Given the description of an element on the screen output the (x, y) to click on. 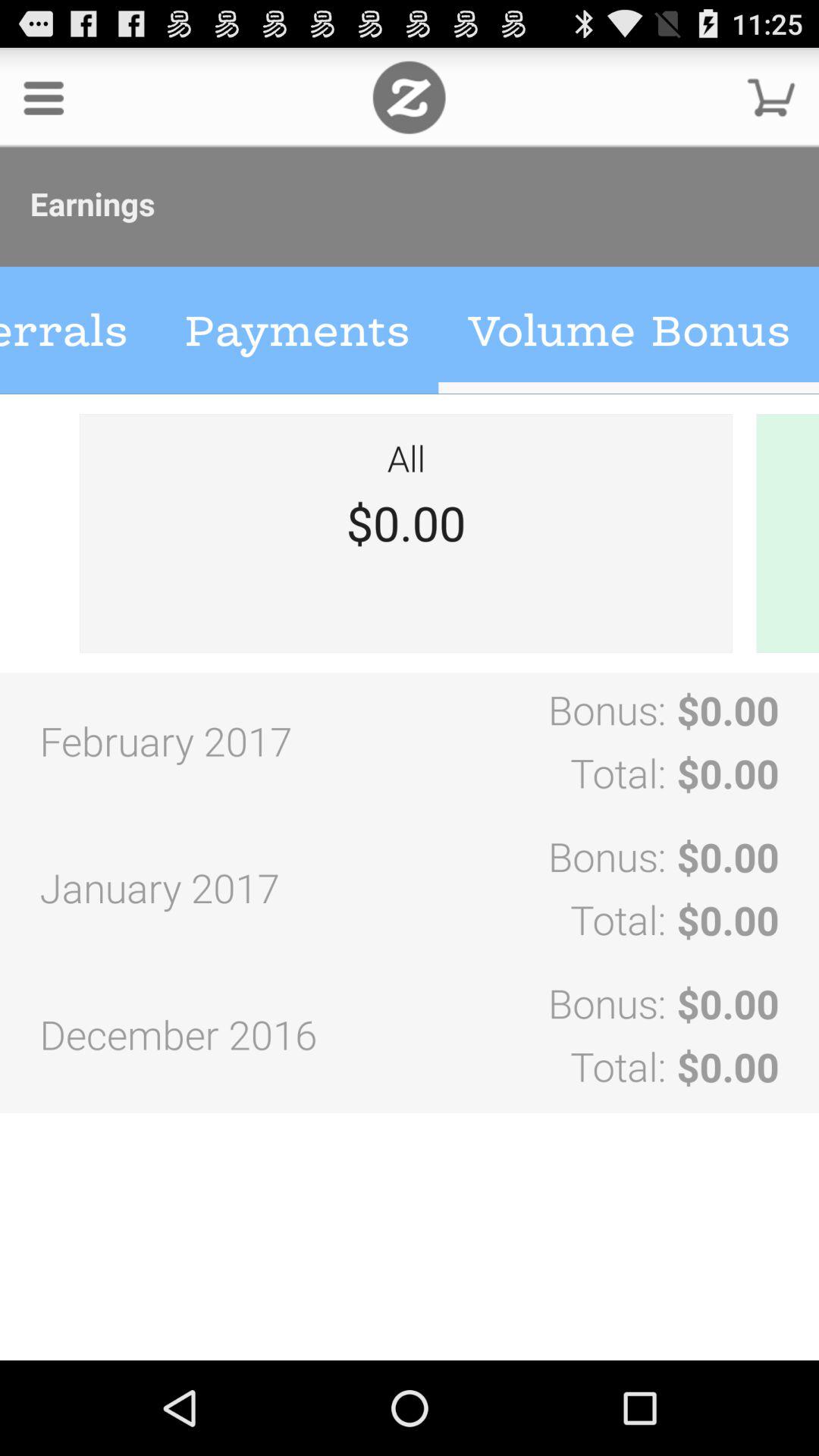
visit homepage (408, 97)
